Given the description of an element on the screen output the (x, y) to click on. 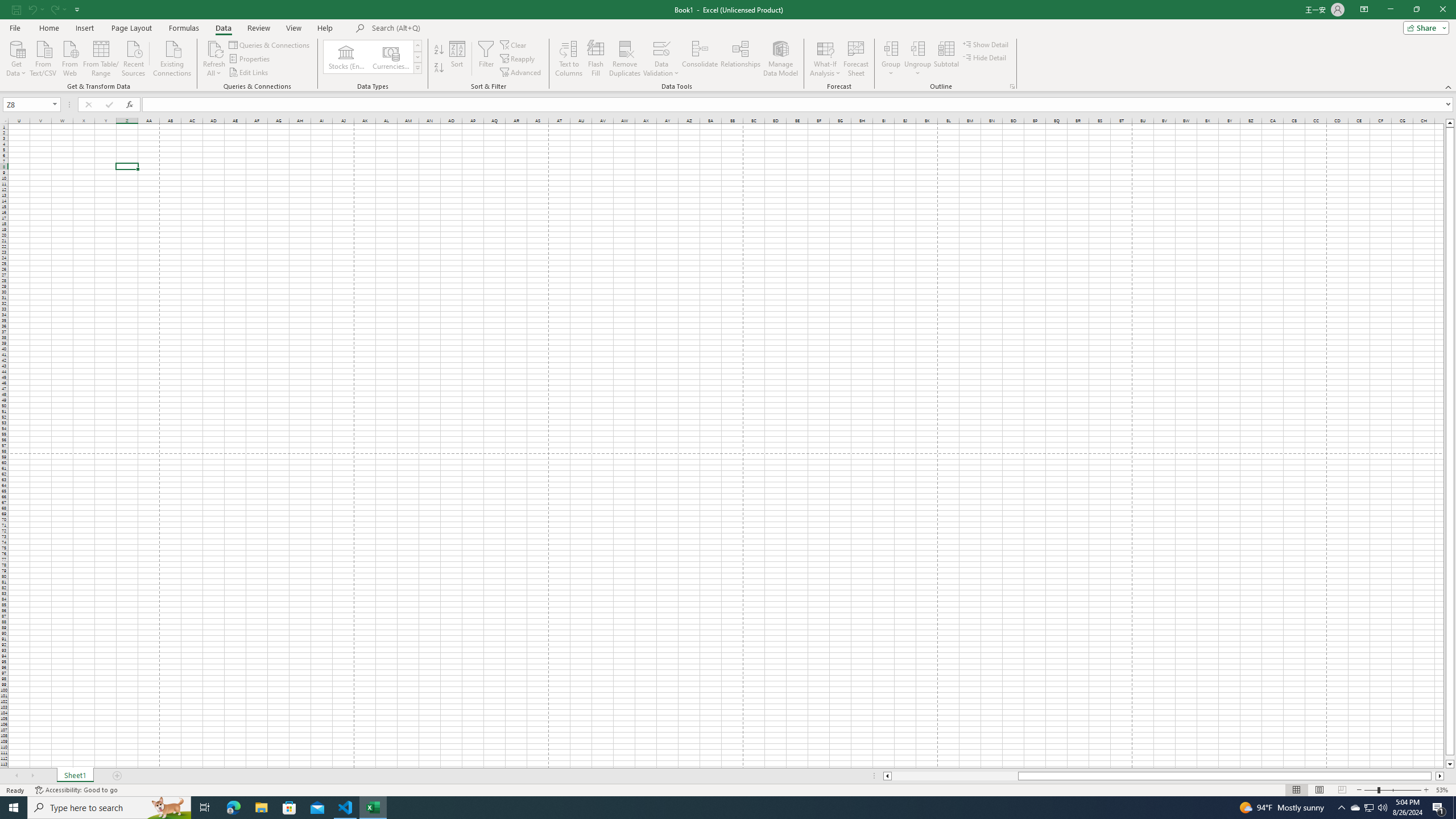
Data Types (417, 67)
